Given the description of an element on the screen output the (x, y) to click on. 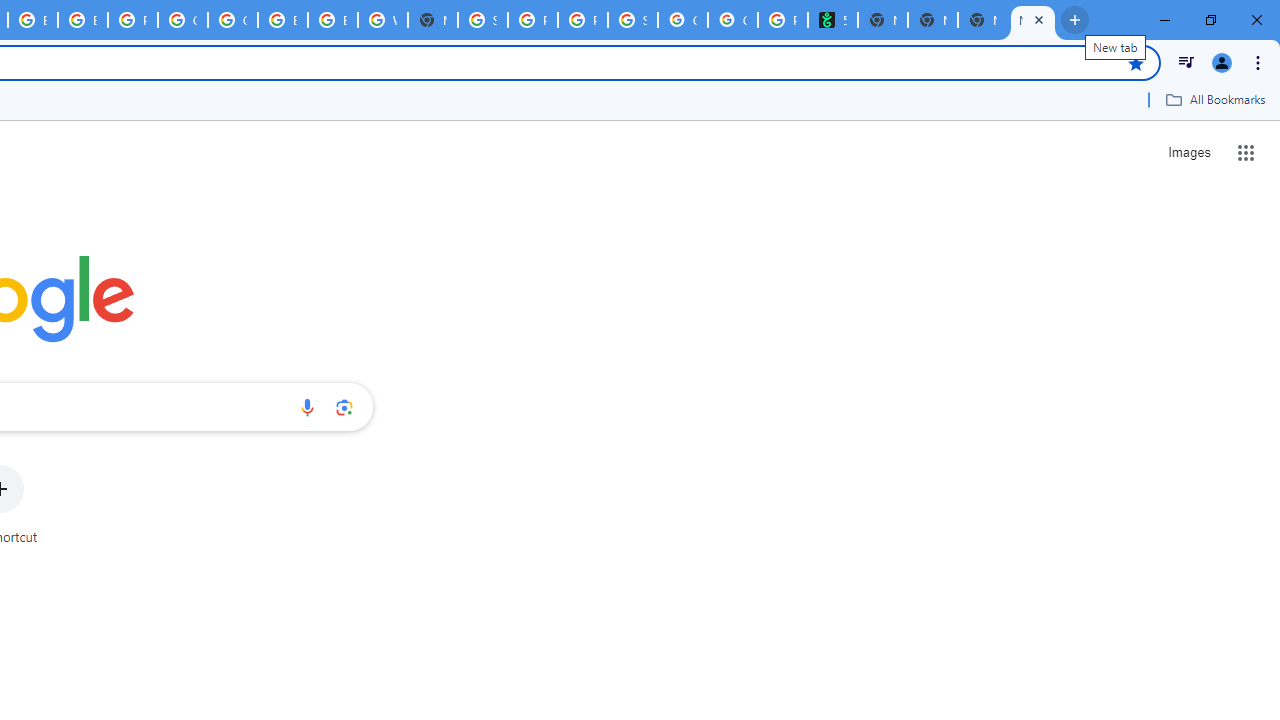
Sign in - Google Accounts (483, 20)
New Tab (1032, 20)
Browse Chrome as a guest - Computer - Google Chrome Help (283, 20)
Google Cloud Platform (232, 20)
New Tab (932, 20)
